Given the description of an element on the screen output the (x, y) to click on. 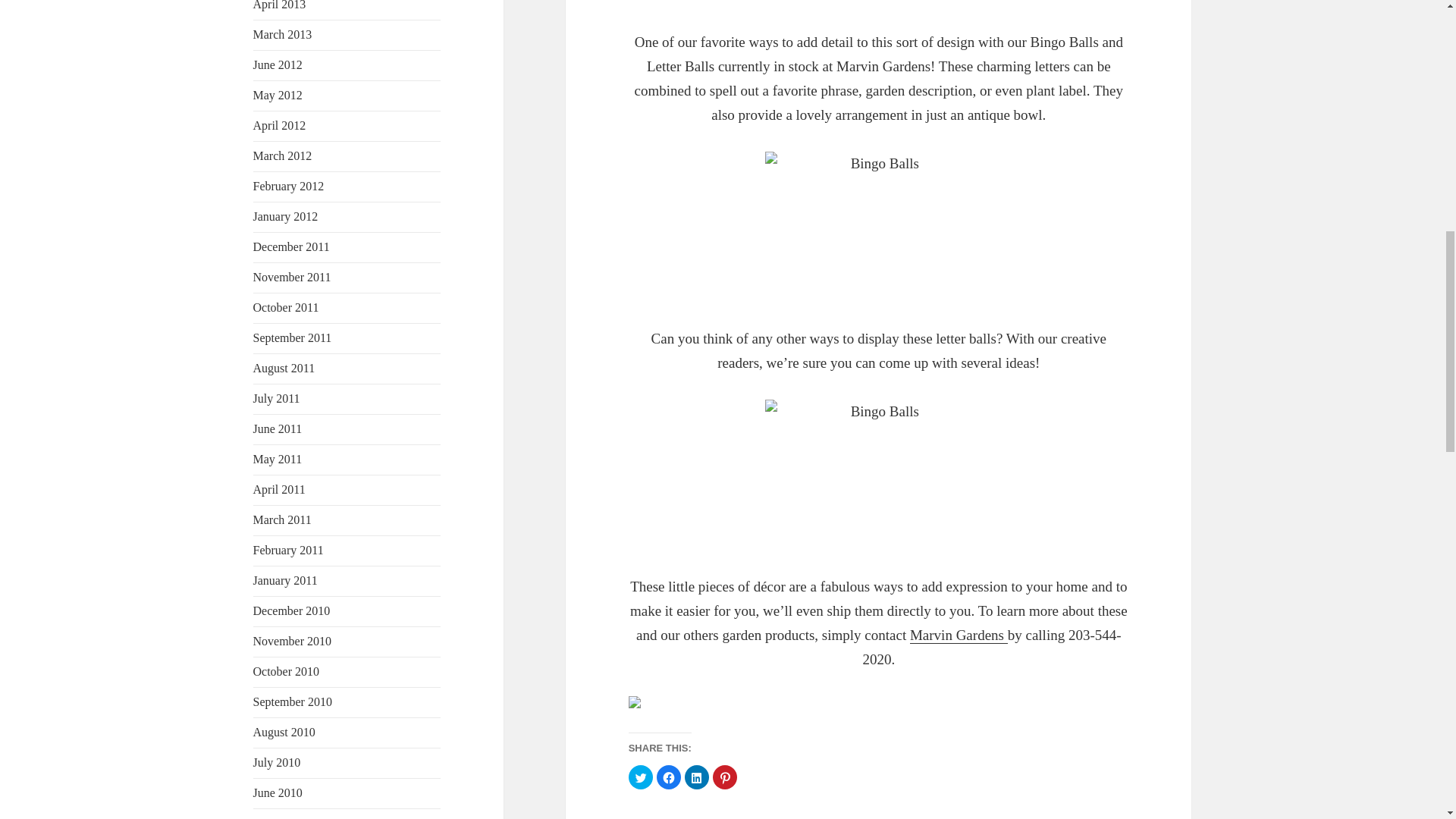
August 2011 (284, 367)
April 2011 (279, 489)
Click to share on Facebook (668, 776)
September 2011 (292, 337)
November 2011 (292, 277)
Click to share on Pinterest (724, 776)
April 2012 (279, 124)
October 2011 (285, 307)
Click to share on LinkedIn (696, 776)
Click to share on Twitter (640, 776)
